Given the description of an element on the screen output the (x, y) to click on. 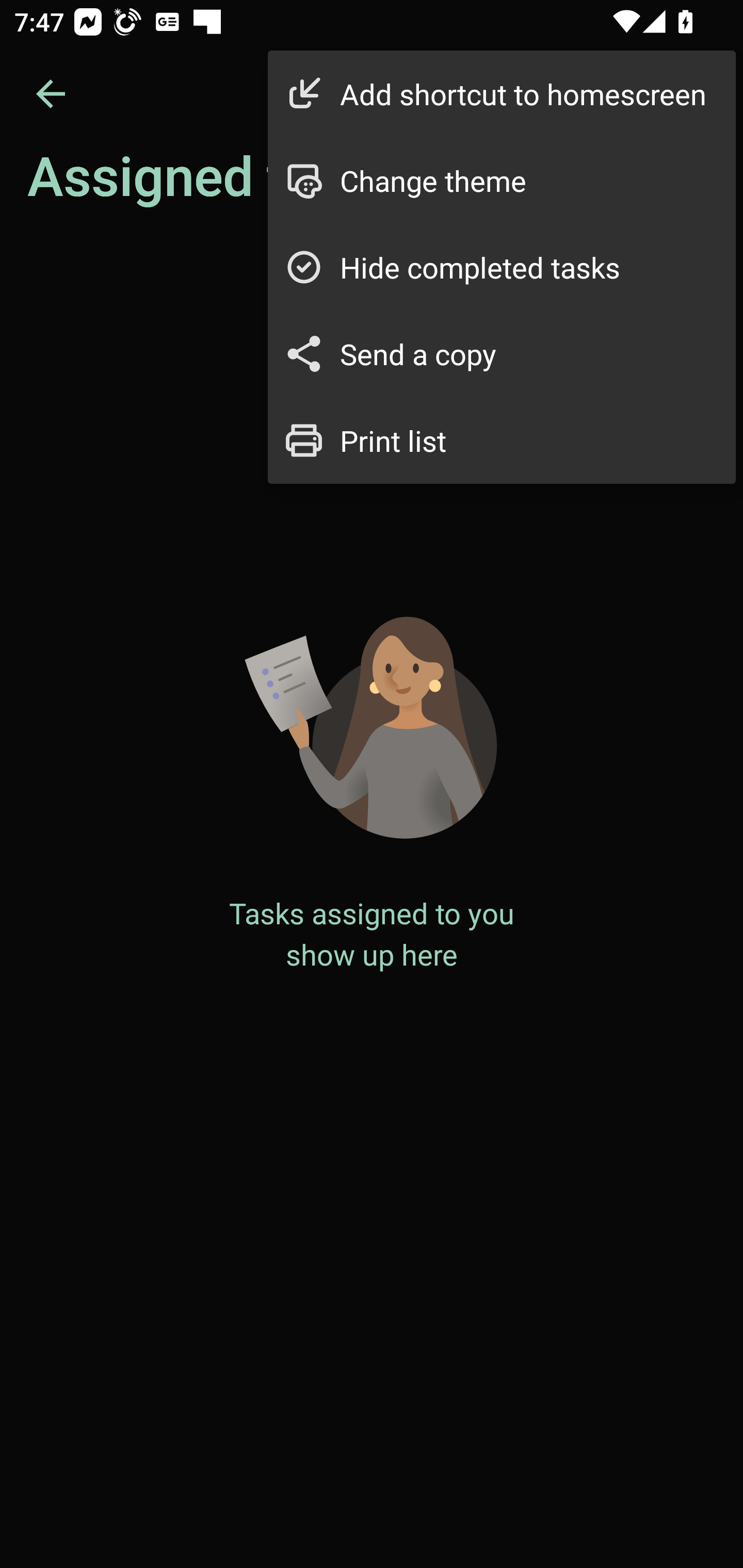
Change theme2 in 5 Change theme (501, 180)
Hide completed tasks3 in 5 Hide completed tasks (501, 267)
Send a copy4 in 5 Send a copy (501, 353)
Print list5 in 5 Print list (501, 440)
